Given the description of an element on the screen output the (x, y) to click on. 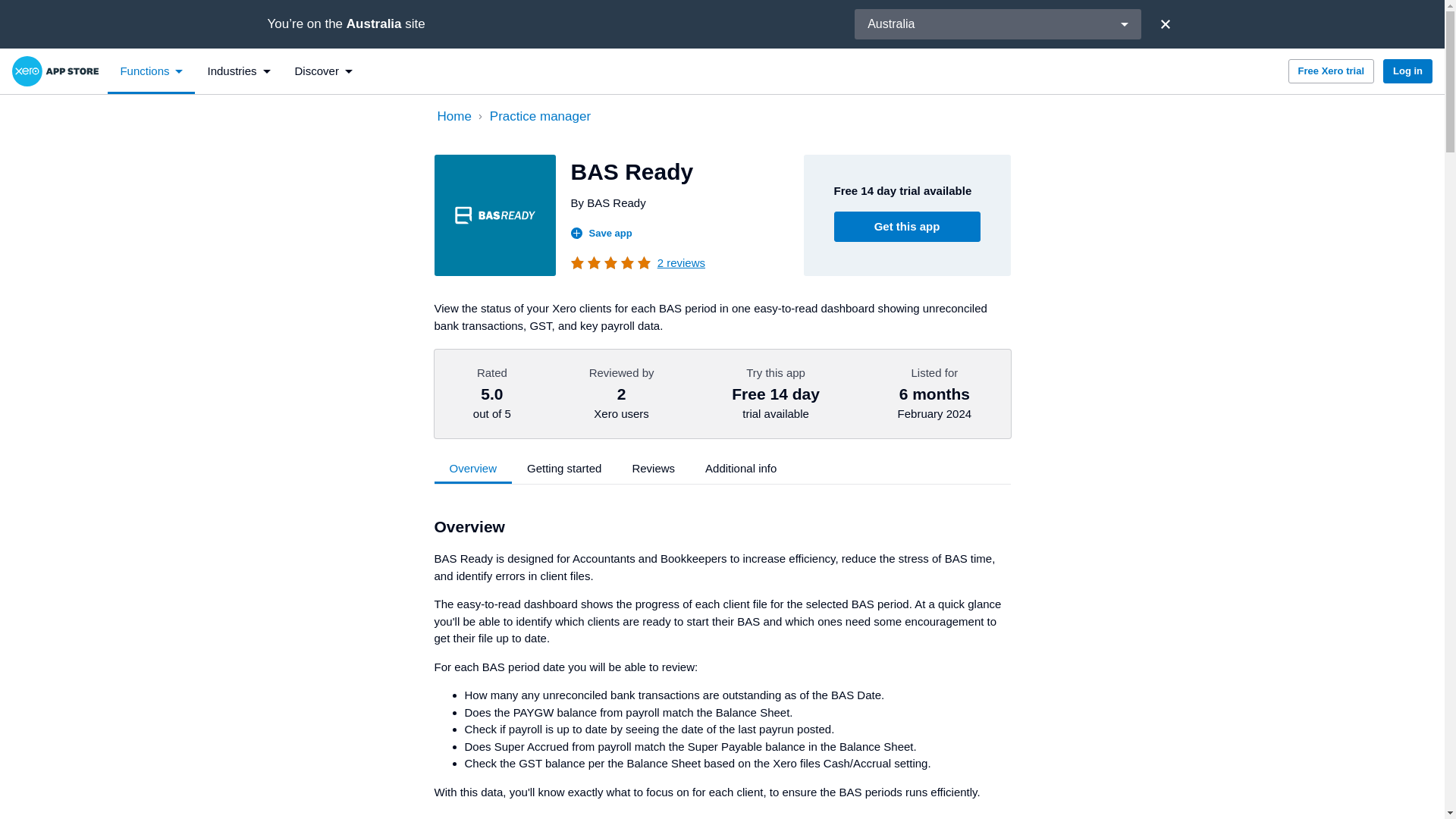
Log in (1407, 70)
Additional info (741, 468)
Overview (472, 468)
Industries (238, 71)
Australia (997, 24)
Practice manager (746, 116)
Save app (600, 233)
Home (453, 116)
Get this app (906, 226)
Reviews (652, 468)
